Given the description of an element on the screen output the (x, y) to click on. 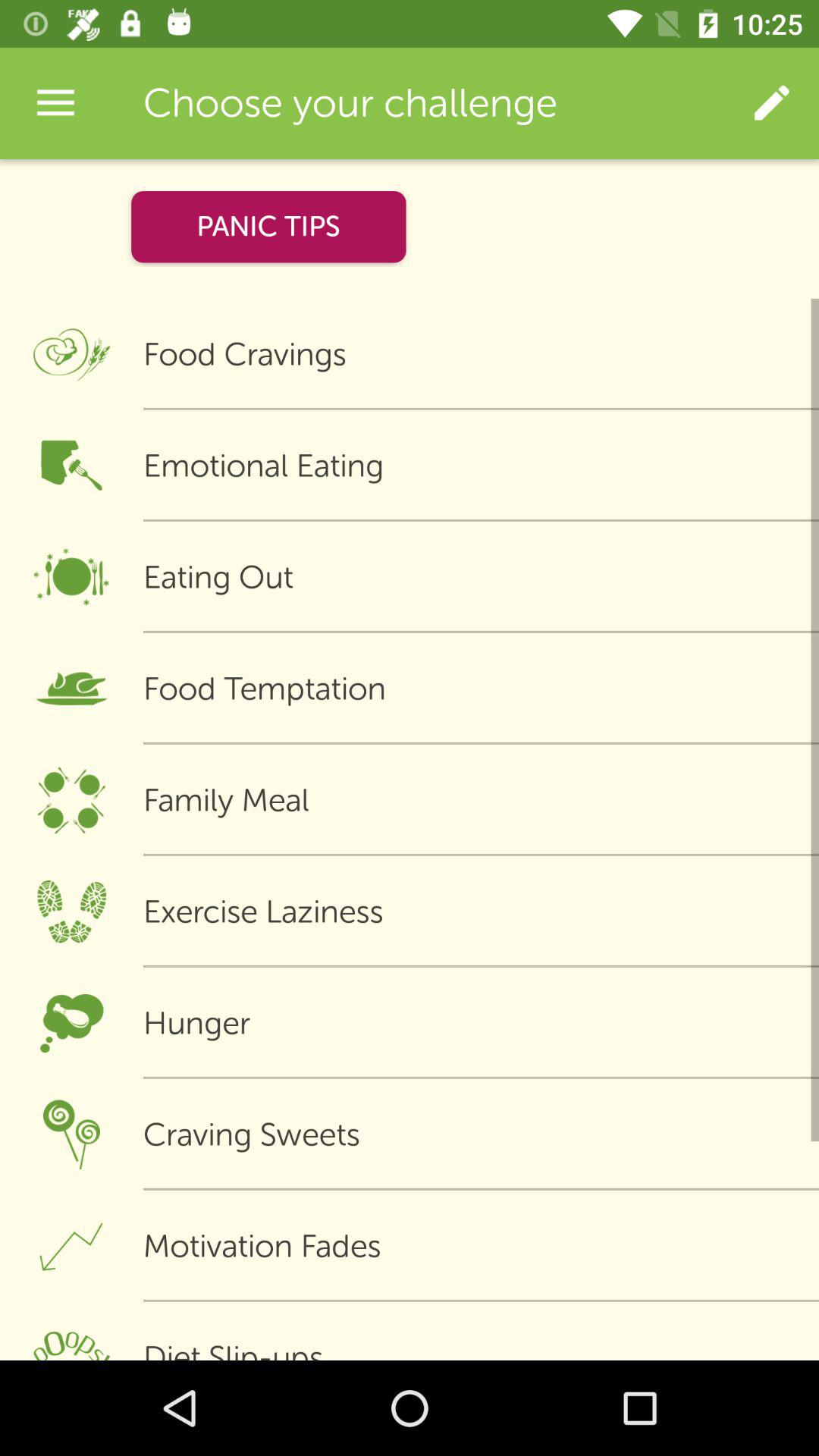
choose the icon to the right of the choose your challenge app (771, 103)
